Given the description of an element on the screen output the (x, y) to click on. 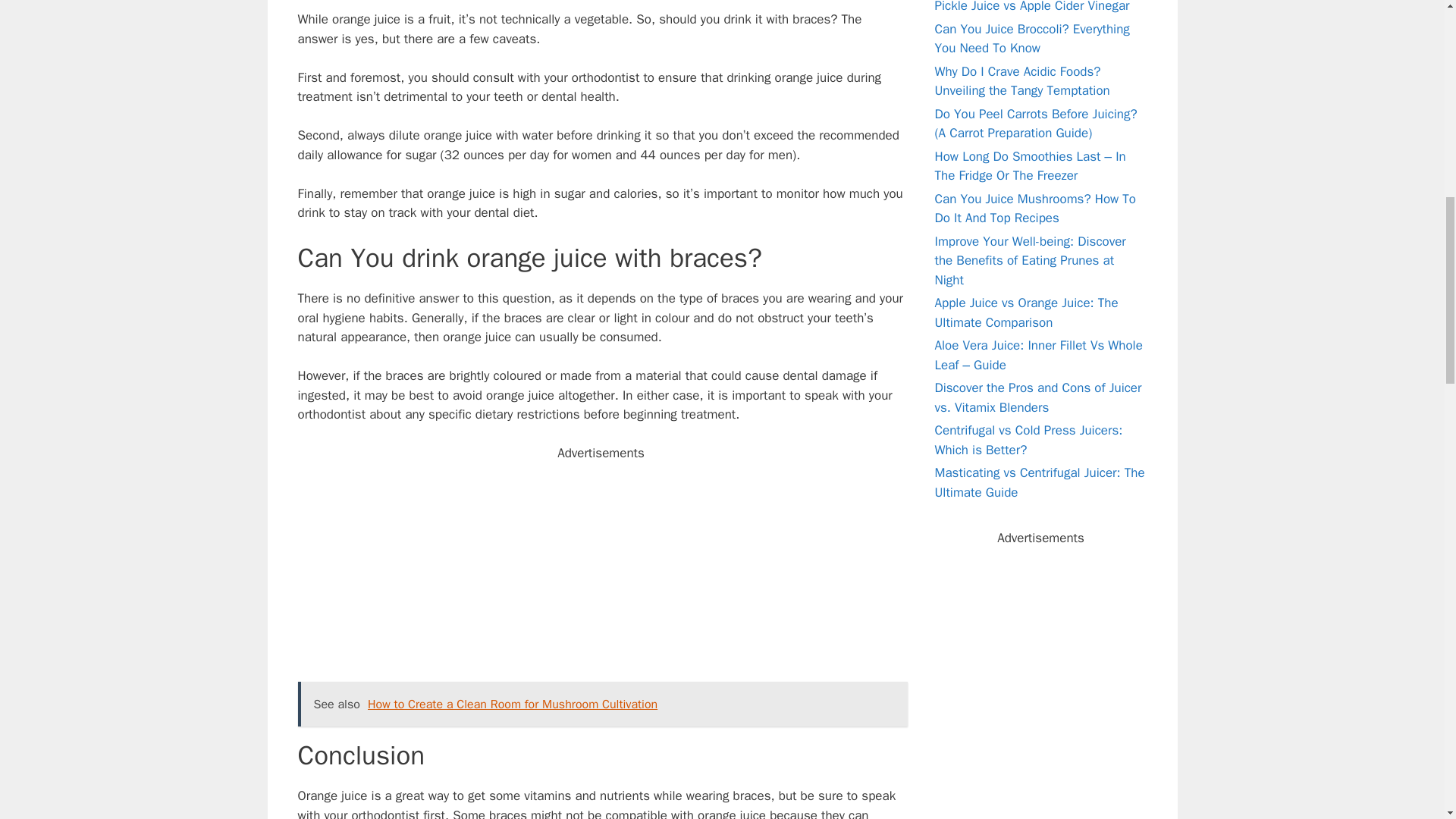
Scroll back to top (1406, 720)
Discover the Pros and Cons of Juicer vs. Vitamix Blenders (1037, 397)
Why Do I Crave Acidic Foods? Unveiling the Tangy Temptation (1021, 81)
Masticating vs Centrifugal Juicer: The Ultimate Guide (1039, 482)
Centrifugal vs Cold Press Juicers: Which is Better? (1028, 439)
Can You Juice Mushrooms? How To Do It And Top Recipes (1034, 208)
Can You Juice Broccoli? Everything You Need To Know (1031, 38)
Apple Juice vs Orange Juice: The Ultimate Comparison (1026, 312)
Pickle Juice vs Apple Cider Vinegar (1031, 6)
